Given the description of an element on the screen output the (x, y) to click on. 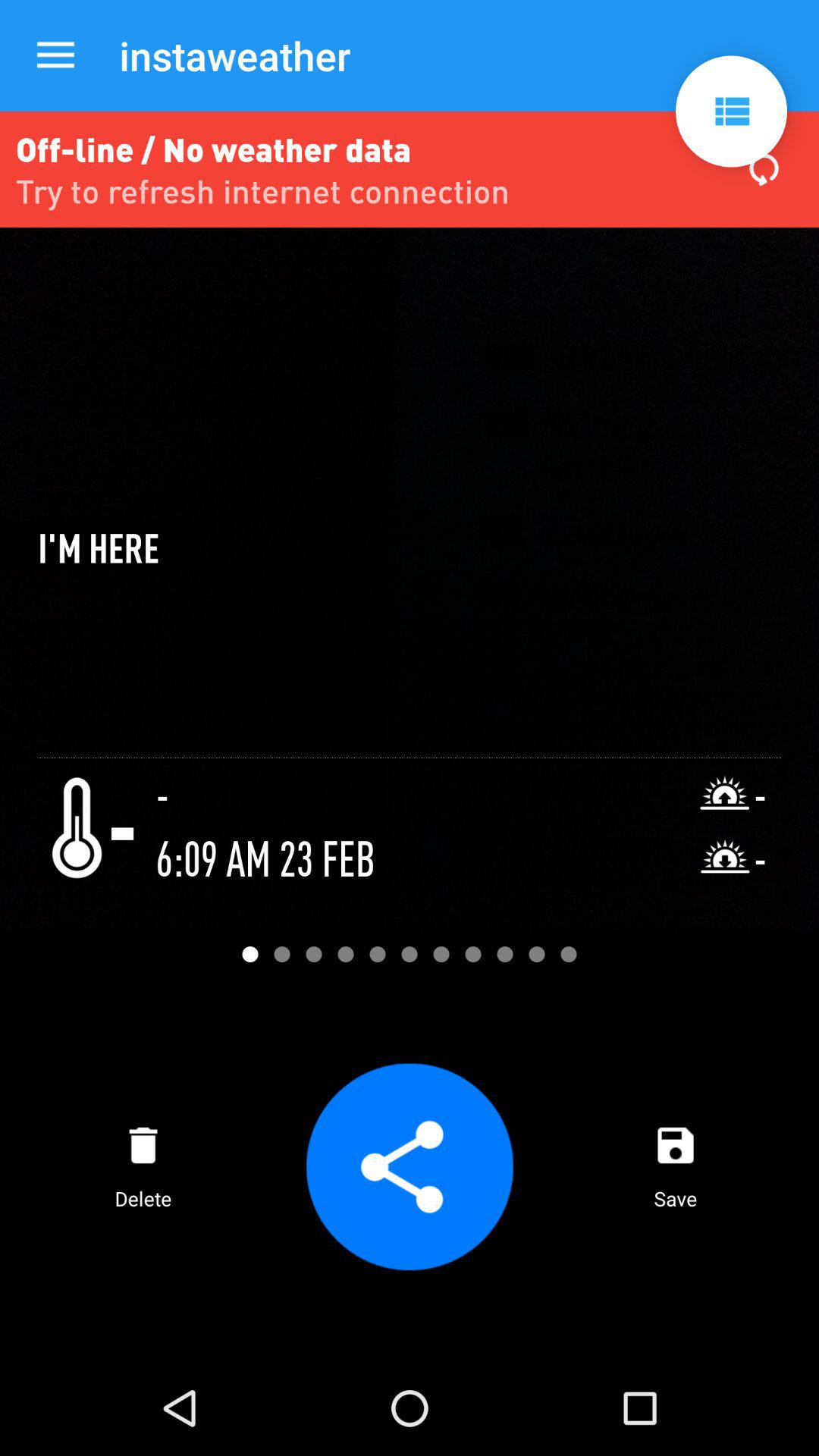
click the app next to instaweather icon (55, 55)
